Given the description of an element on the screen output the (x, y) to click on. 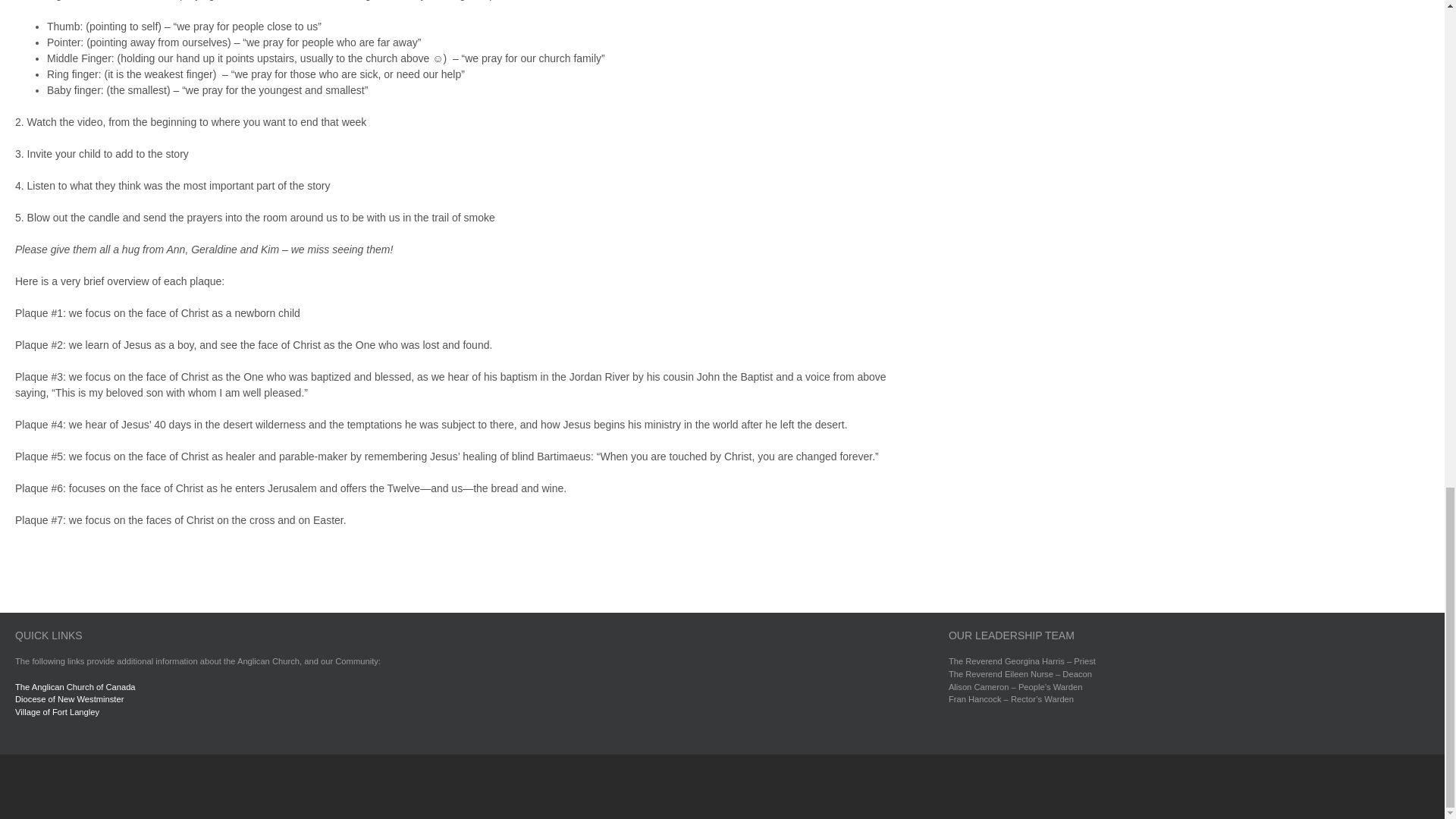
Village of Fort Langley (56, 711)
Diocese of New Westminster (68, 698)
The Anglican Church of Canada (74, 686)
